Given the description of an element on the screen output the (x, y) to click on. 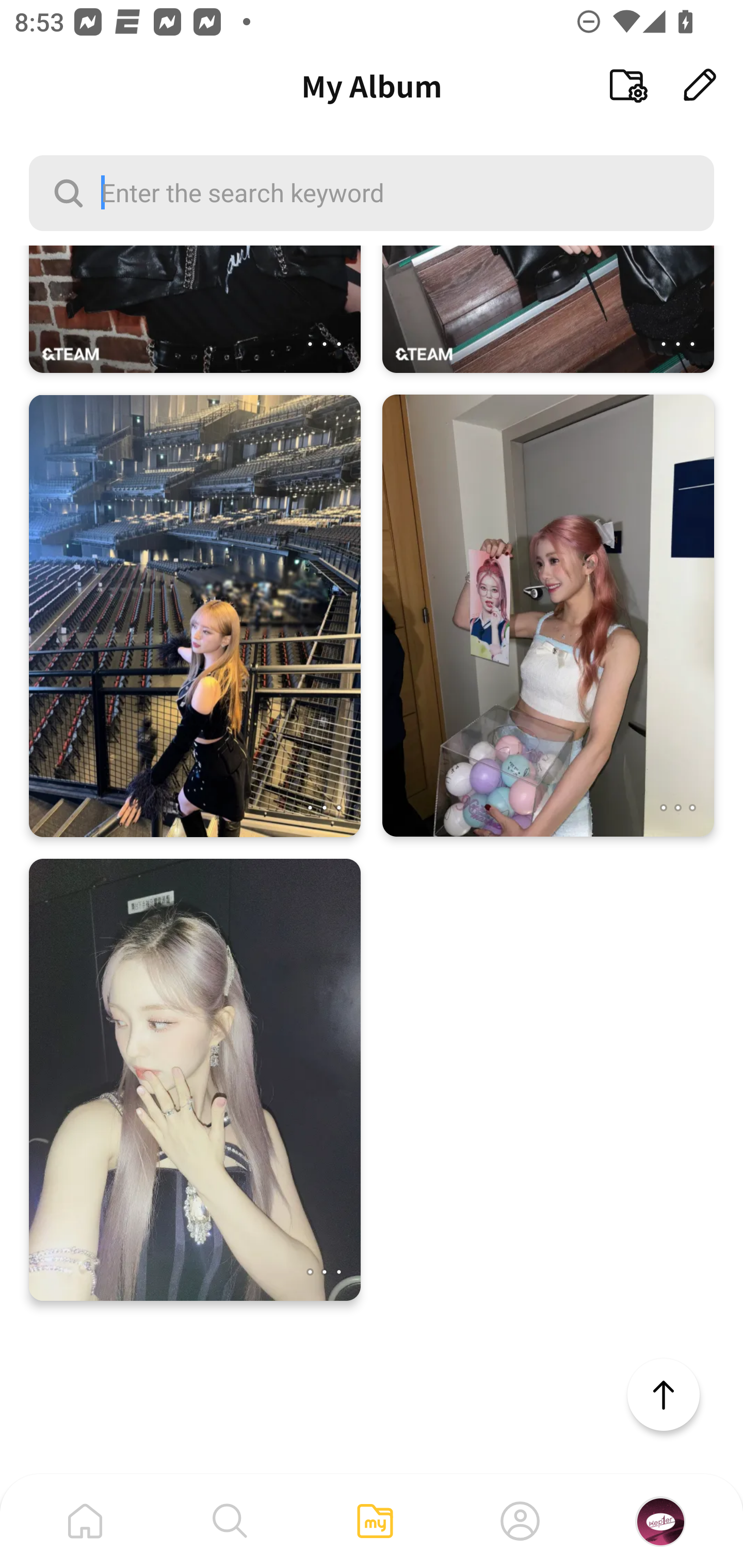
Enter the search keyword (371, 192)
